Given the description of an element on the screen output the (x, y) to click on. 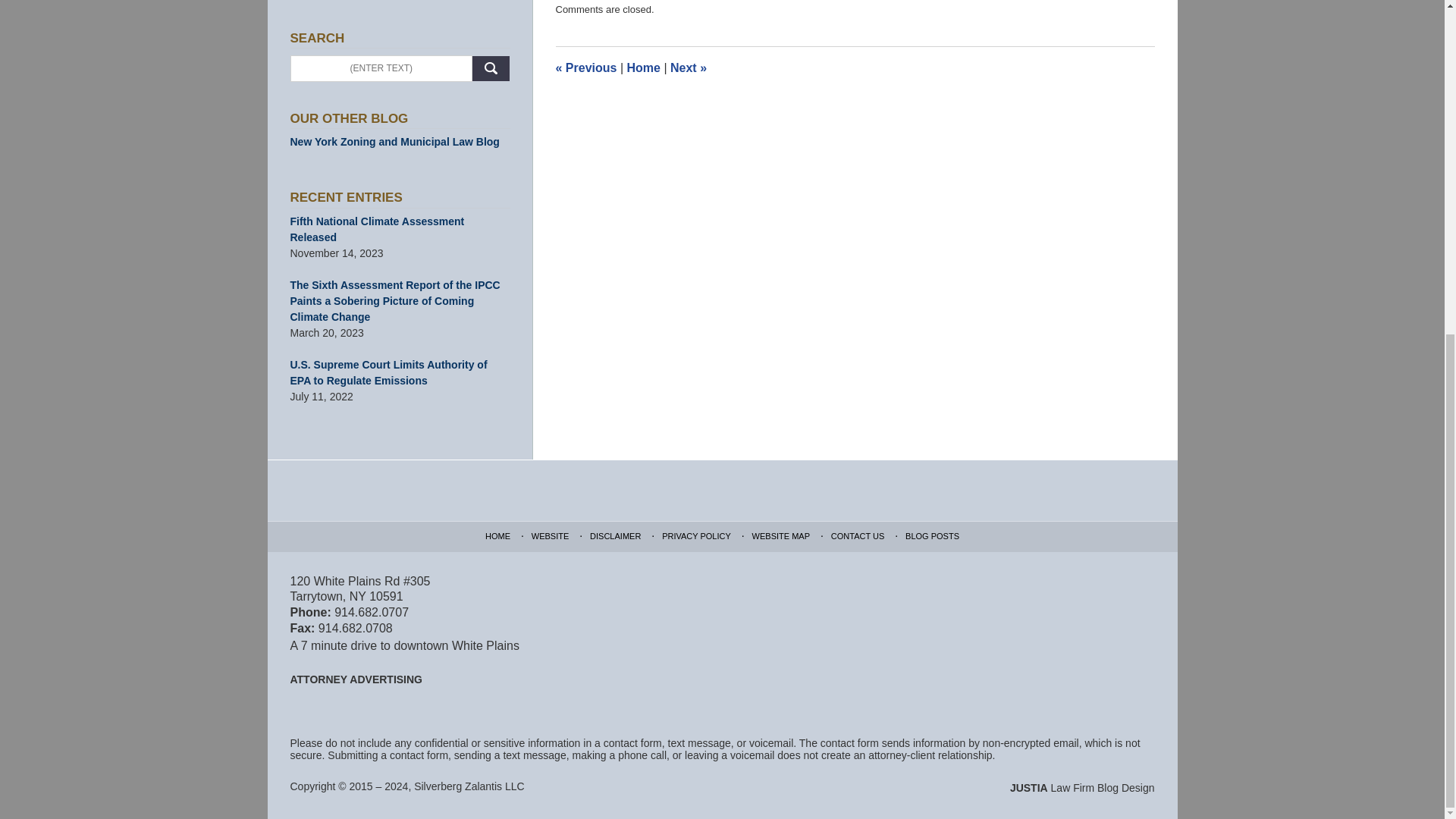
New York Zoning and Municipal Law Blog (399, 141)
SEARCH (490, 68)
Increased Costs of Delaying Action on Climate Change (687, 67)
Government Releases Climate Change Viewer (584, 67)
Fifth National Climate Assessment Released (399, 229)
Home (642, 67)
